Given the description of an element on the screen output the (x, y) to click on. 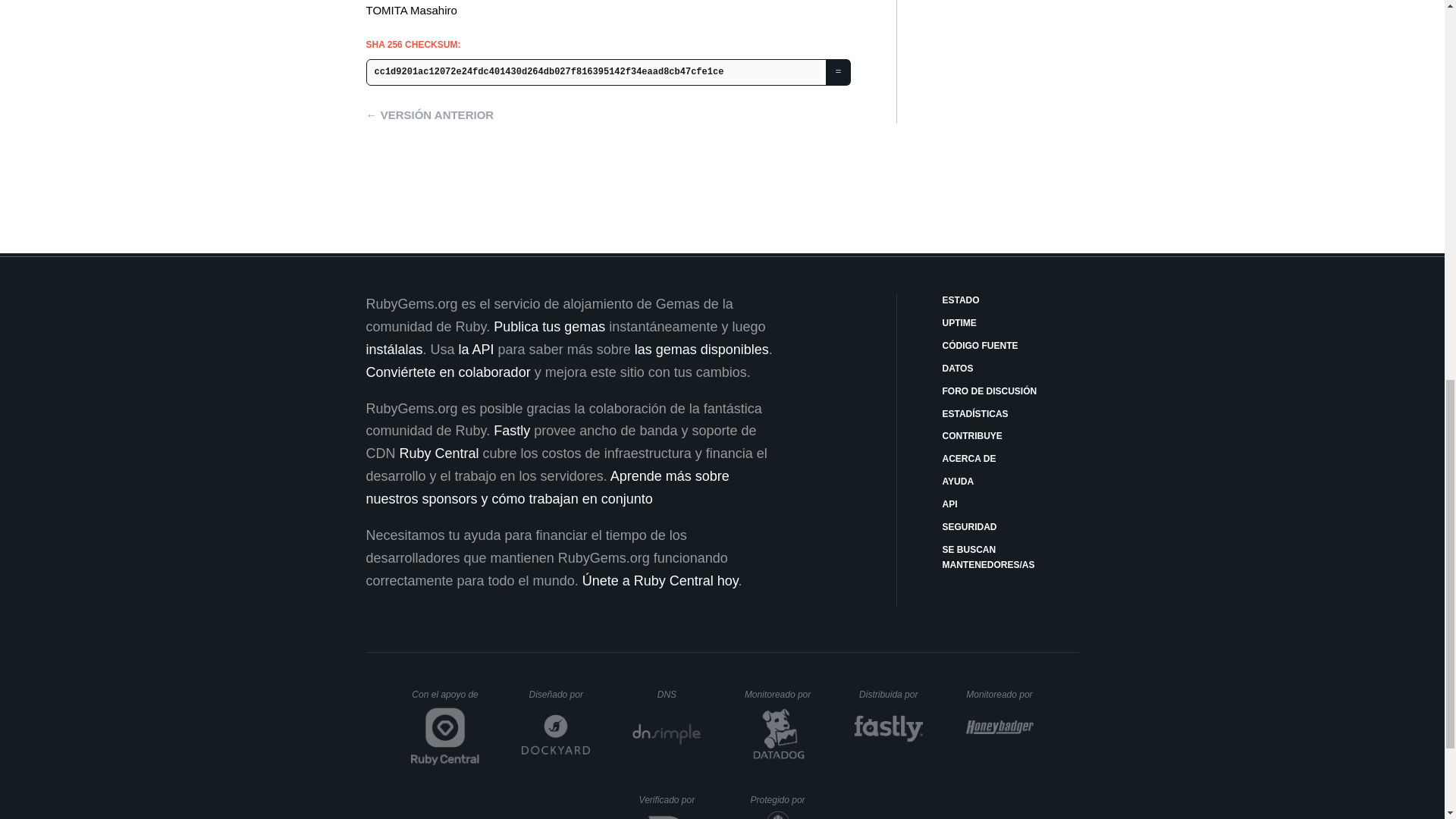
CONTRIBUYE (1010, 436)
ACERCA DE (1010, 459)
ESTADO (1010, 300)
DATOS (1010, 368)
UPTIME (1010, 323)
